Given the description of an element on the screen output the (x, y) to click on. 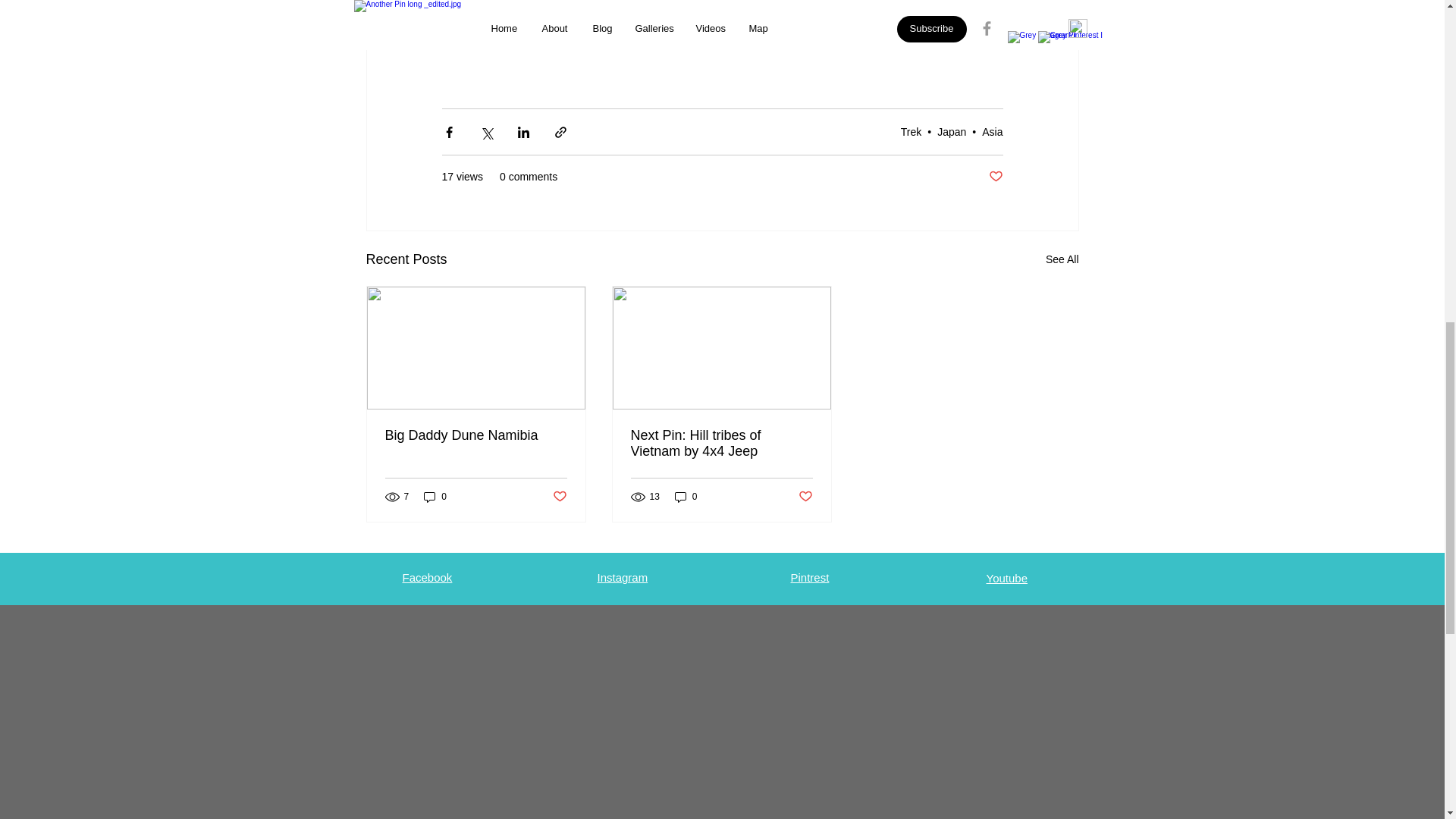
Japan (951, 132)
Trek (911, 132)
